Given the description of an element on the screen output the (x, y) to click on. 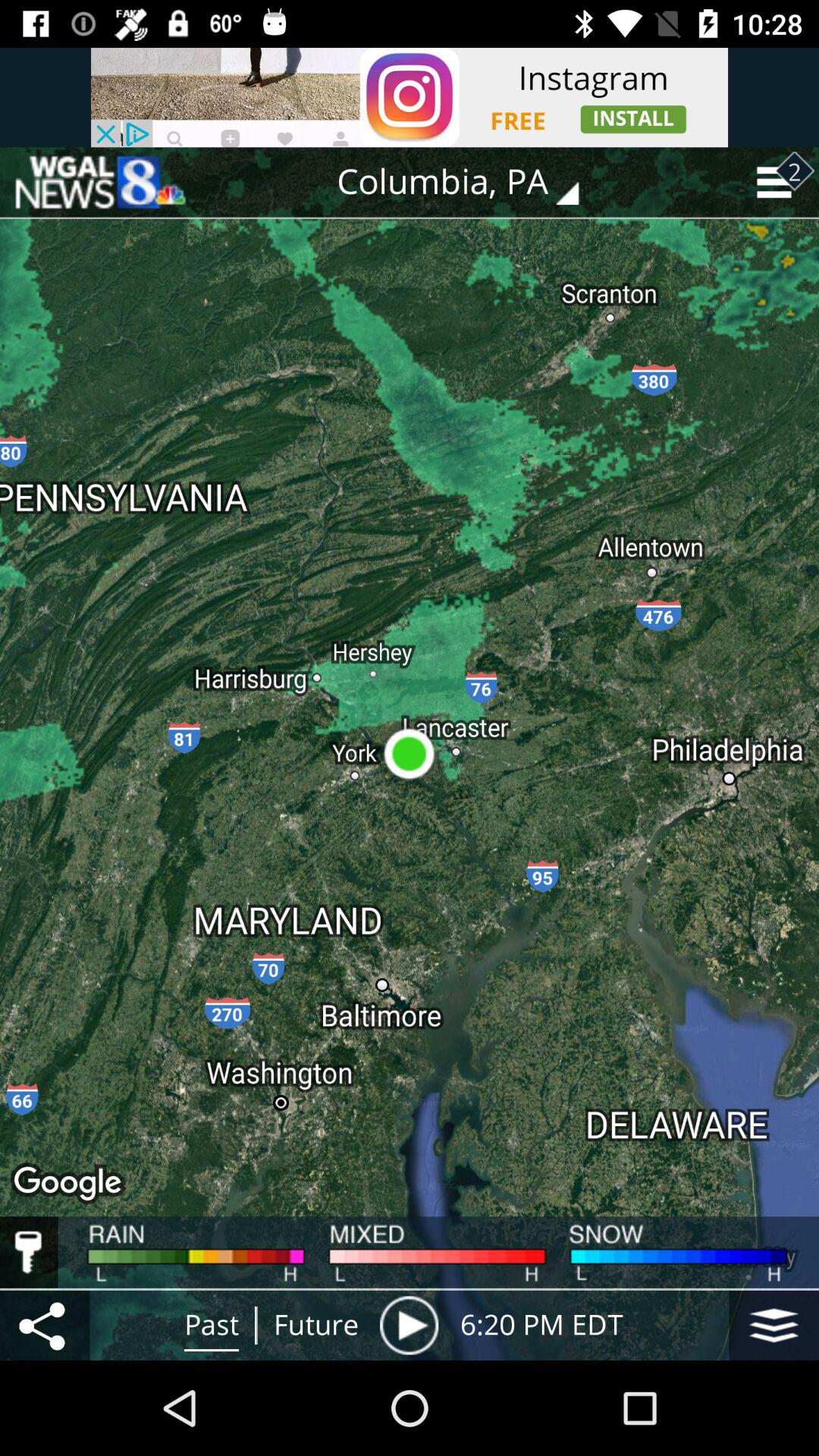
launch the item next to 6 20 pm icon (409, 1325)
